Given the description of an element on the screen output the (x, y) to click on. 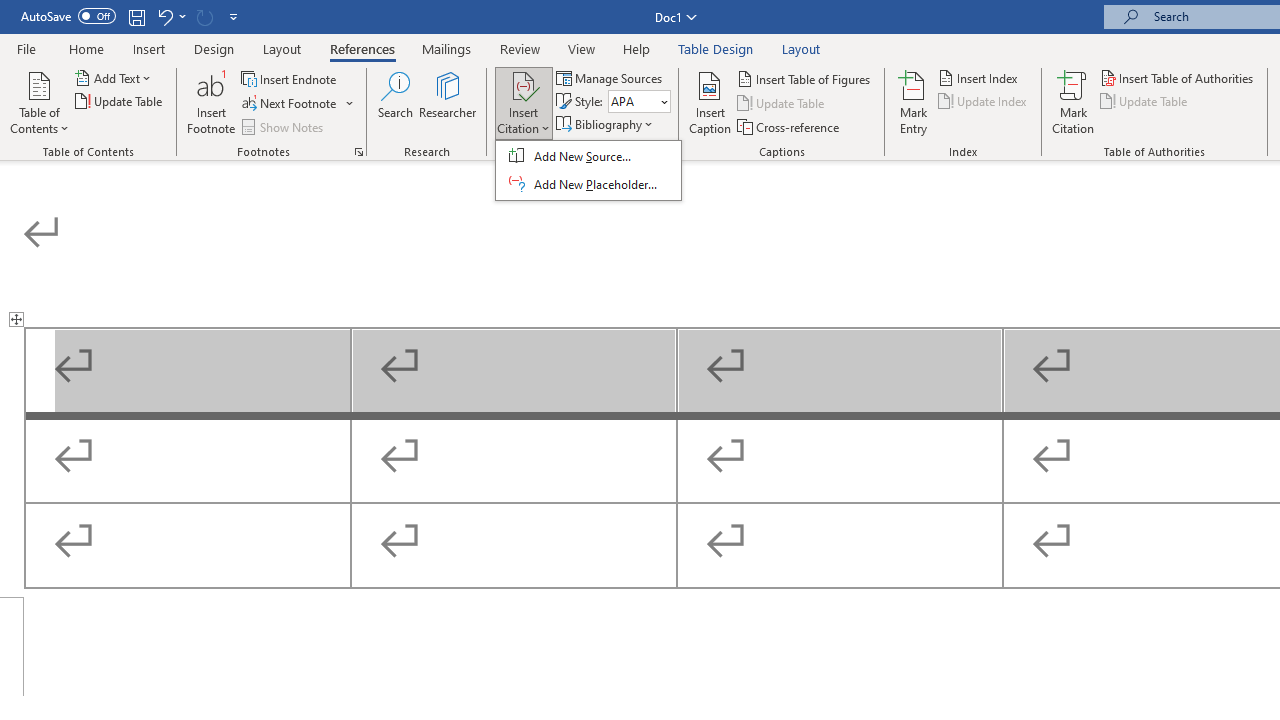
Next Footnote (290, 103)
Add Text (114, 78)
Insert Citation (523, 102)
Undo Outline Move Up (164, 15)
Table Design (715, 48)
Table of Contents (39, 102)
Bibliography (606, 124)
Undo Outline Move Up (170, 15)
